Given the description of an element on the screen output the (x, y) to click on. 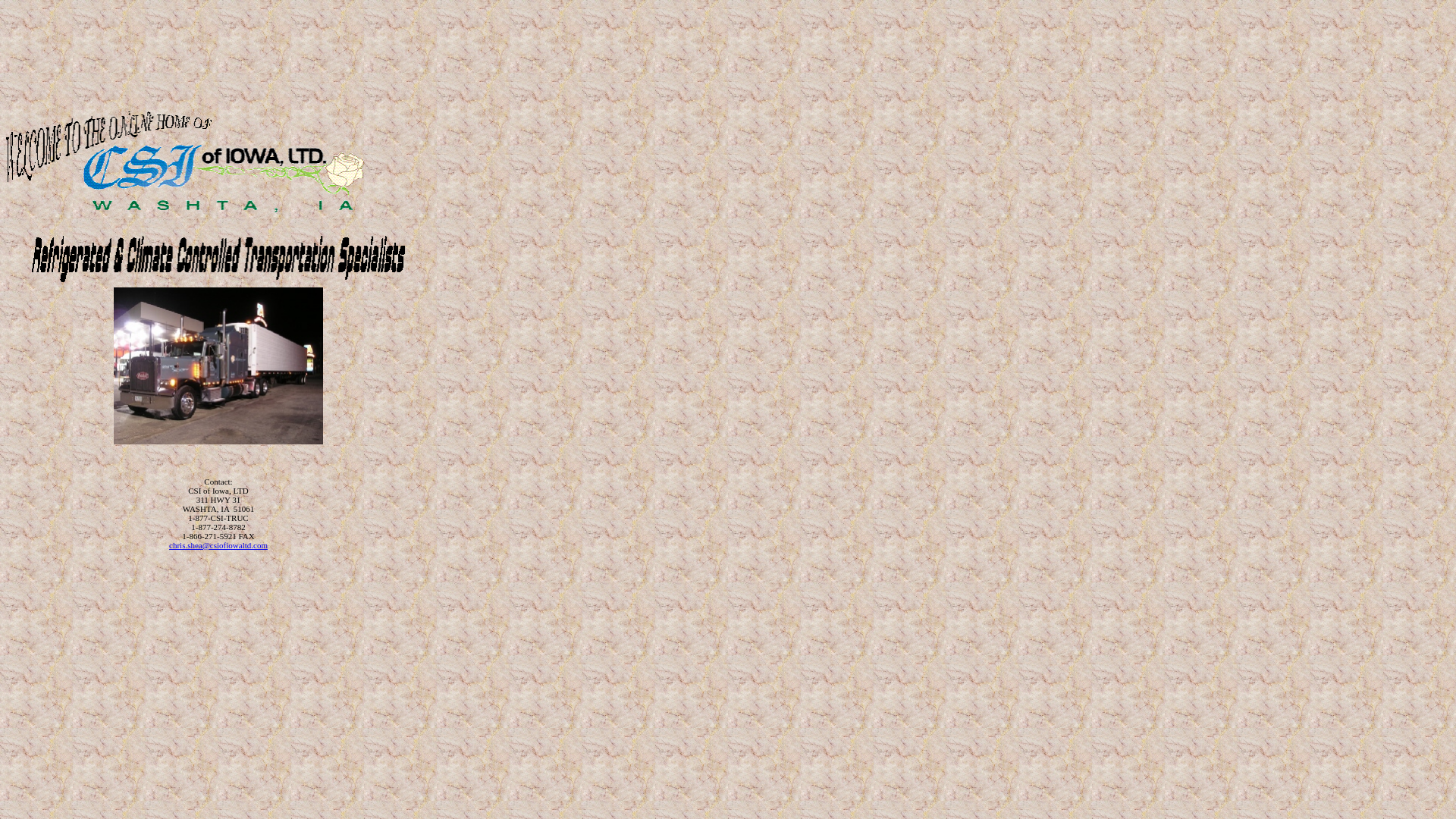
chris.shea@csiofiowaltd.com Element type: text (218, 544)
